Given the description of an element on the screen output the (x, y) to click on. 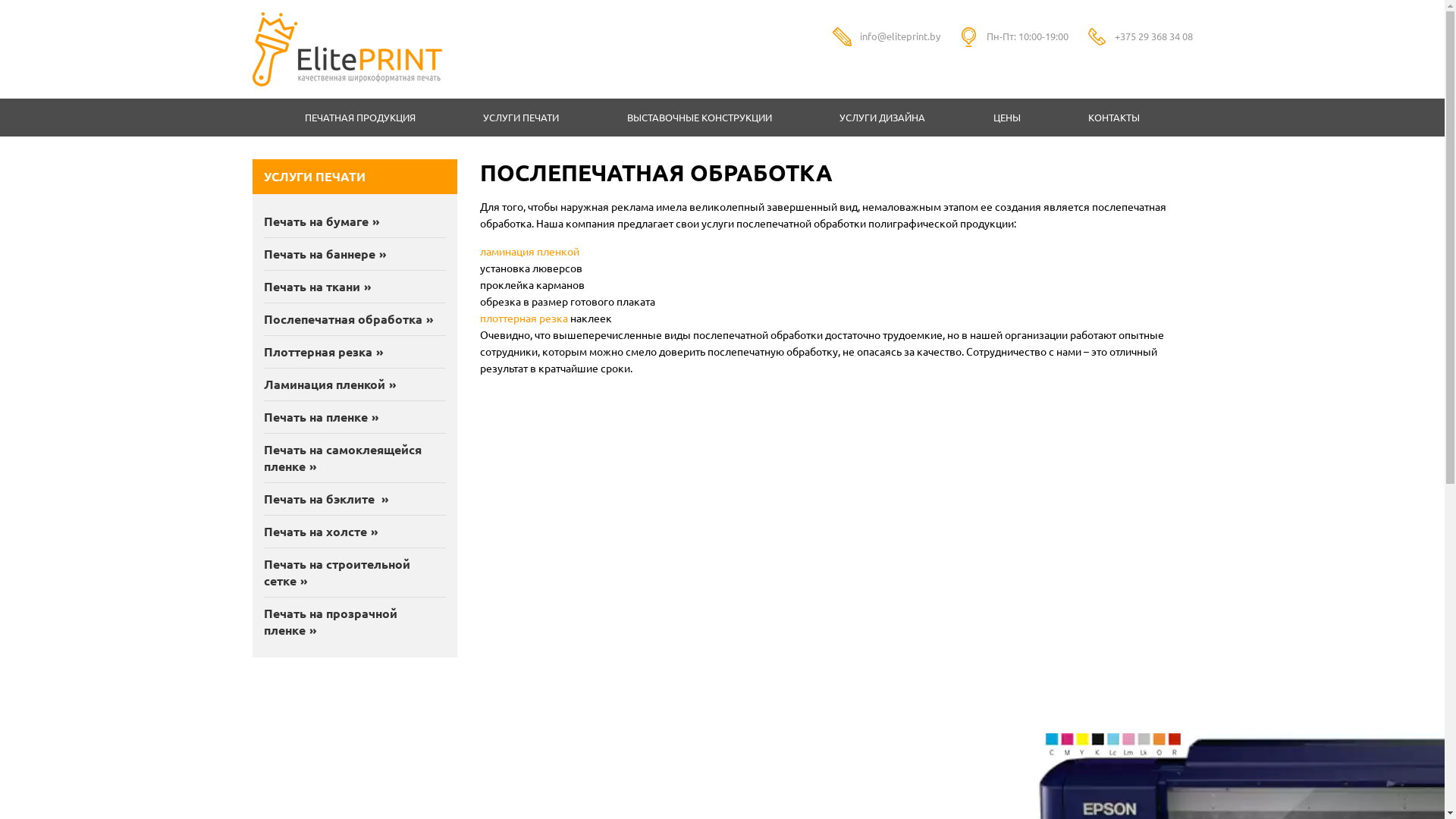
+375 29 368 34 08 Element type: text (1153, 35)
info@eliteprint.by Element type: text (899, 35)
